Given the description of an element on the screen output the (x, y) to click on. 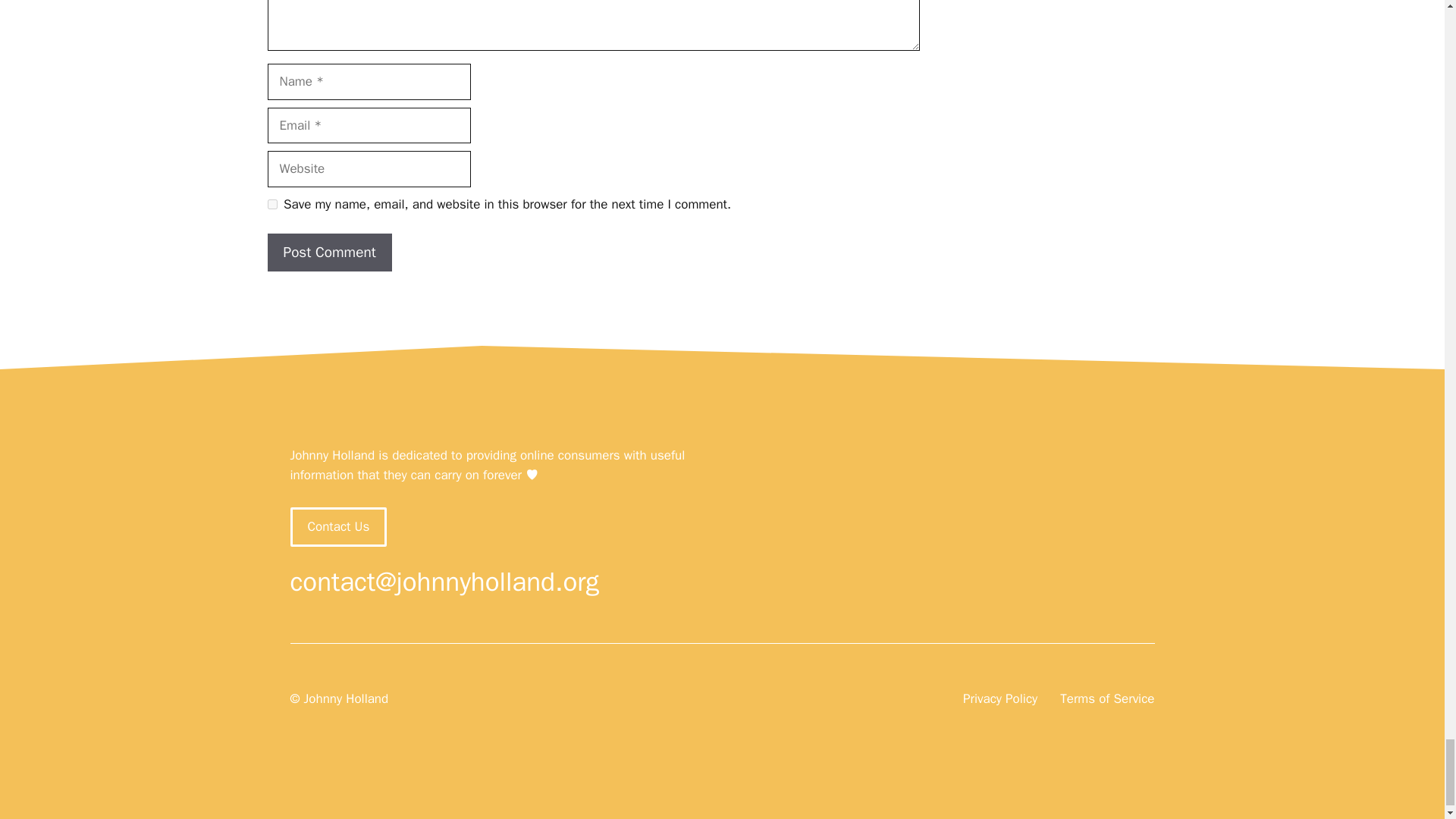
yes (271, 204)
Terms of Service (1106, 699)
Contact Us (338, 526)
Privacy Policy (999, 699)
Post Comment (328, 252)
Post Comment (328, 252)
